Given the description of an element on the screen output the (x, y) to click on. 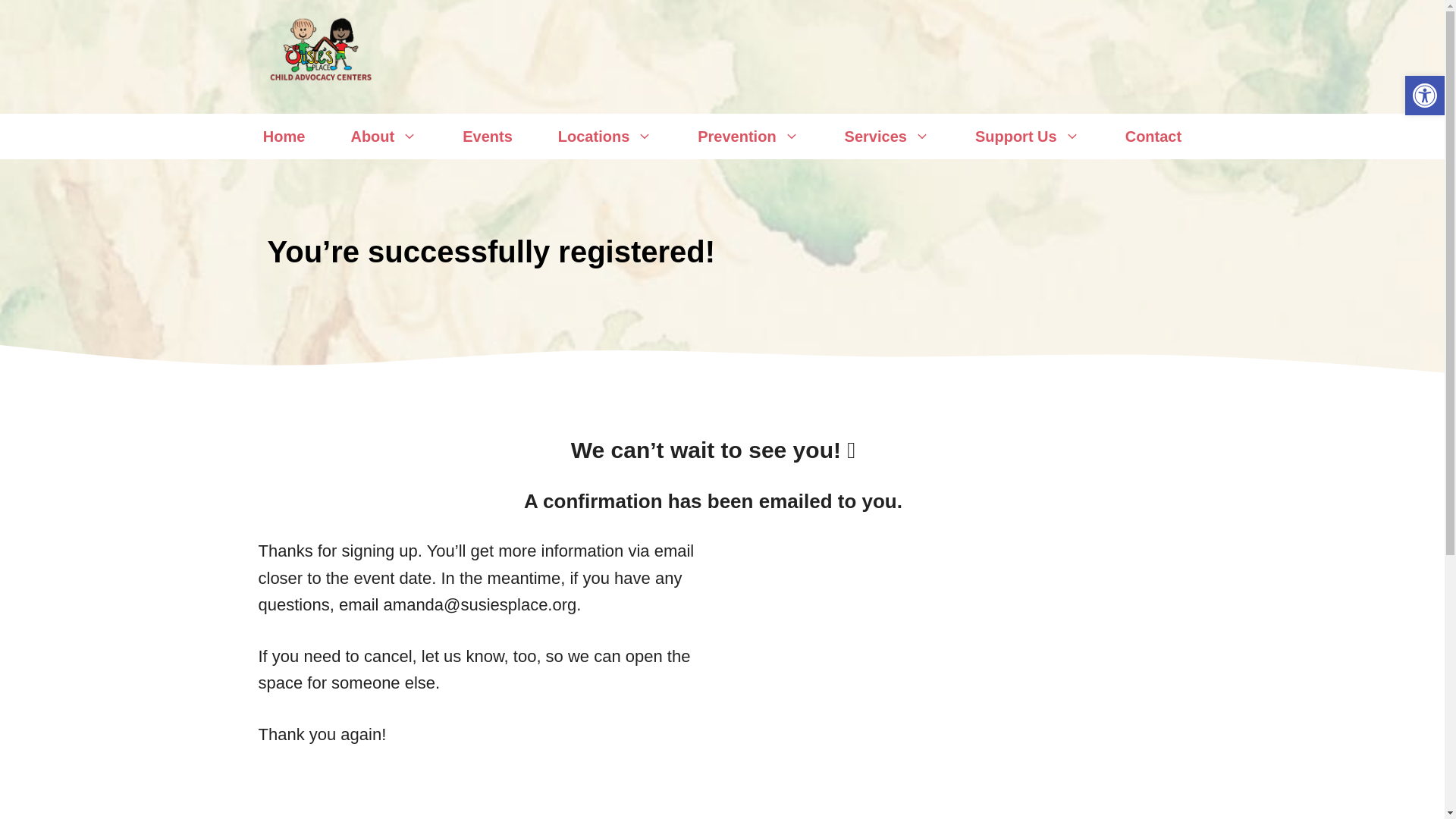
About (383, 135)
Prevention (748, 135)
Accessibility Tools (1424, 95)
Services (887, 135)
Locations (605, 135)
Support Us (1027, 135)
Contact (1153, 135)
Events (487, 135)
Home (284, 135)
